Given the description of an element on the screen output the (x, y) to click on. 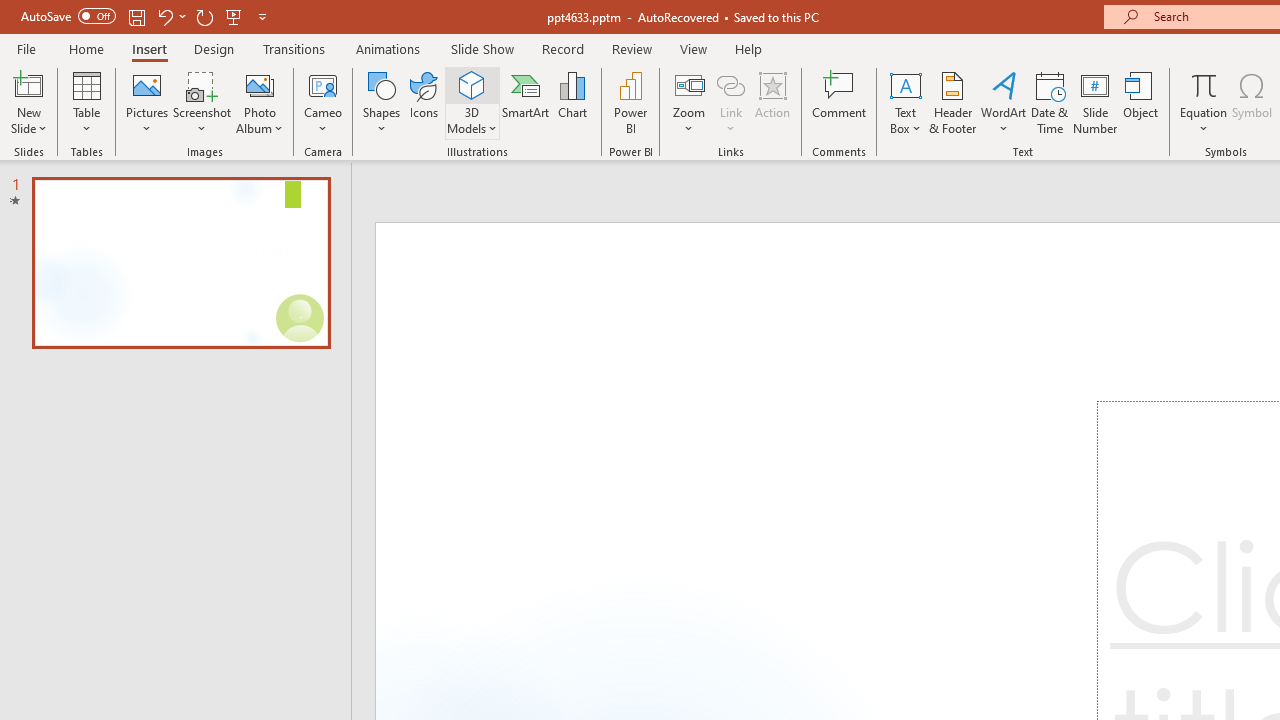
Icons (424, 102)
Link (731, 102)
Pictures (147, 102)
Symbol... (1252, 102)
Action (772, 102)
Link (731, 84)
Shapes (381, 102)
Text Box (905, 102)
